Given the description of an element on the screen output the (x, y) to click on. 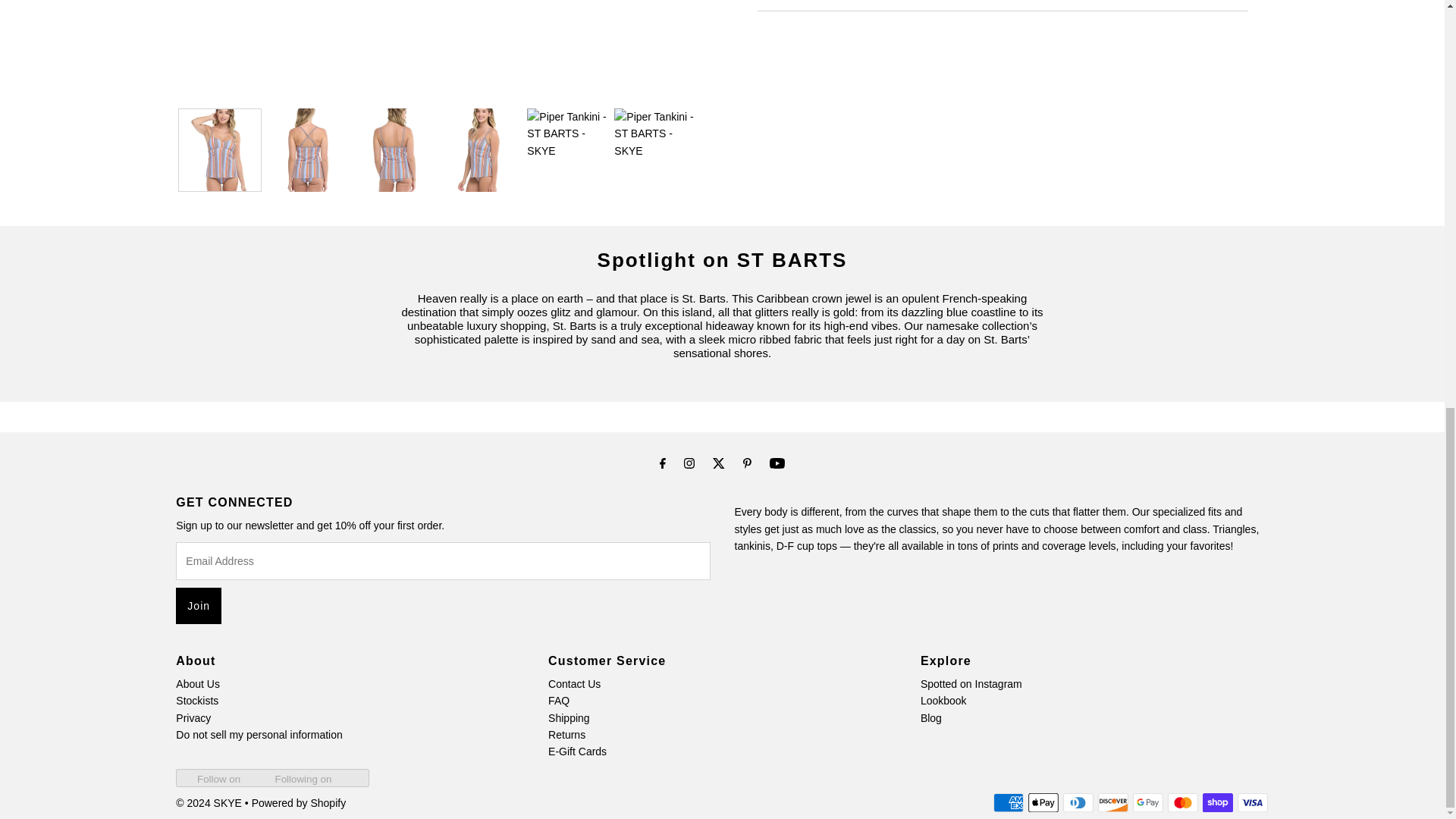
Apple Pay (1042, 802)
Discover (1112, 802)
Join (198, 606)
American Express (1007, 802)
Diners Club (1077, 802)
Youtube (777, 463)
